Given the description of an element on the screen output the (x, y) to click on. 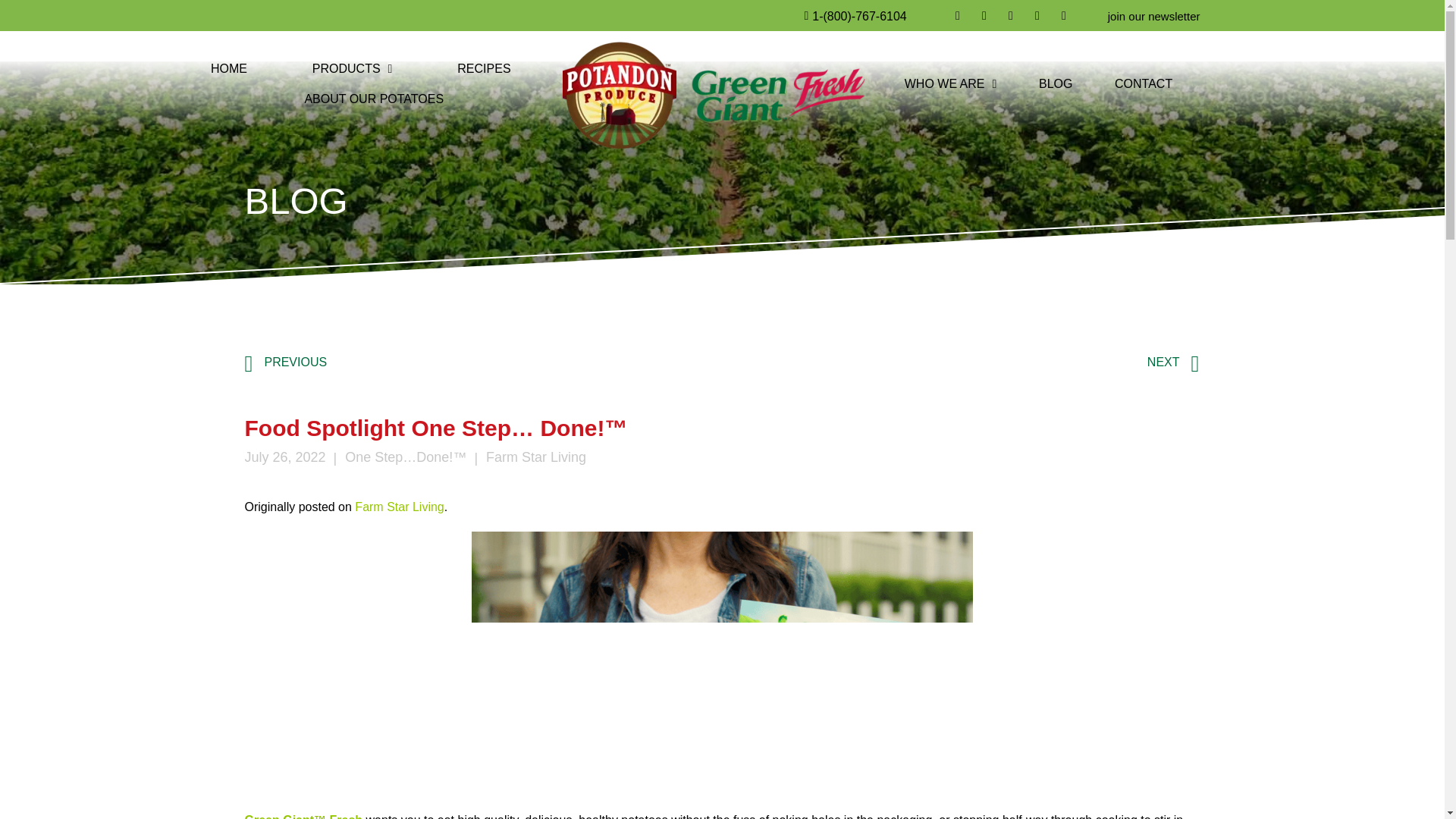
ABOUT OUR POTATOES (374, 99)
PRODUCTS (352, 69)
RECIPES (483, 69)
HOME (228, 69)
join our newsletter (1153, 16)
